Given the description of an element on the screen output the (x, y) to click on. 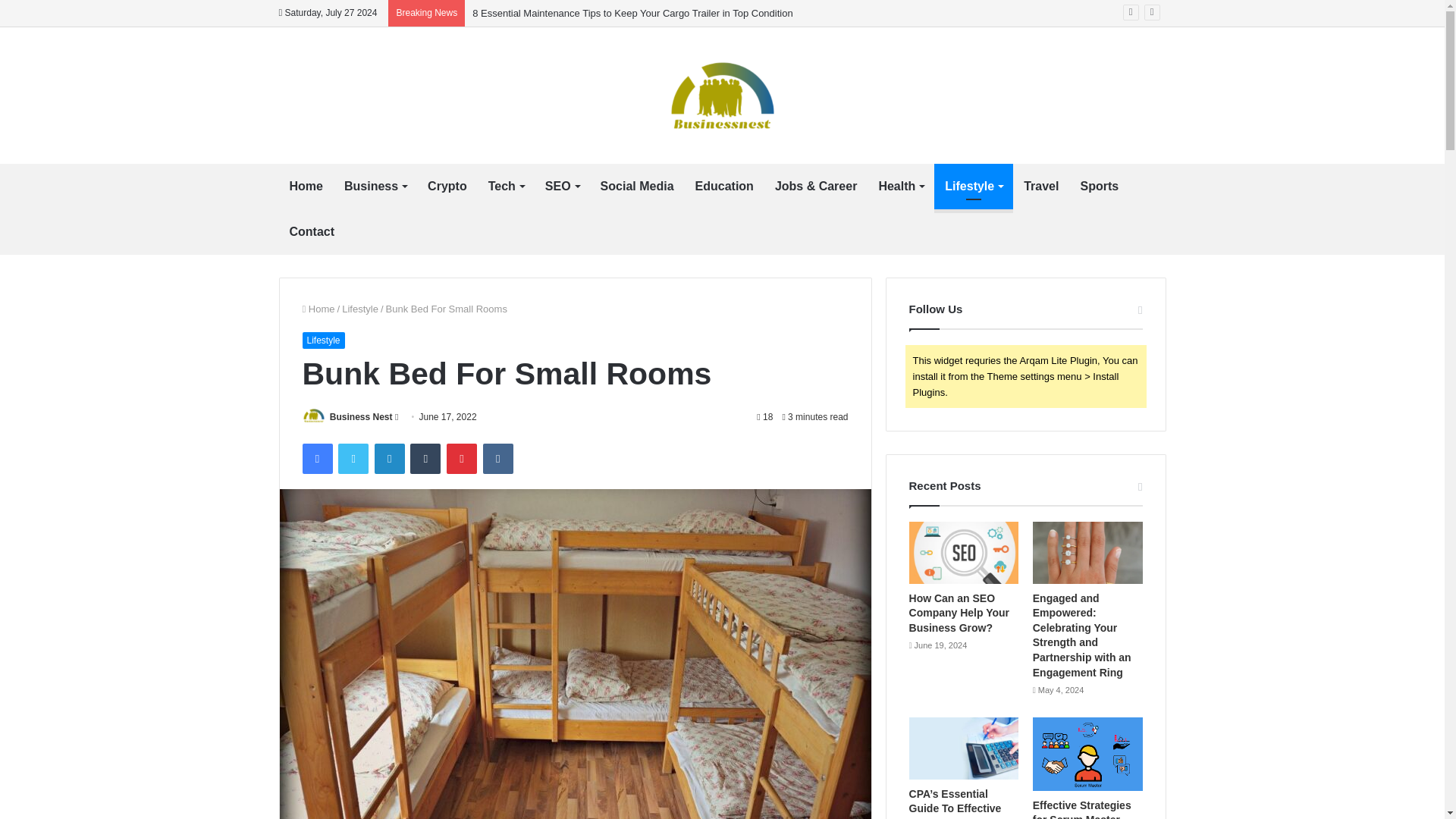
Lifestyle (973, 186)
Social Media (636, 186)
Business Ideas (721, 95)
Twitter (352, 458)
LinkedIn (389, 458)
VKontakte (498, 458)
Tumblr (425, 458)
Crypto (446, 186)
Tumblr (425, 458)
Education (724, 186)
Pinterest (461, 458)
Travel (1040, 186)
Business (374, 186)
Lifestyle (360, 308)
